Given the description of an element on the screen output the (x, y) to click on. 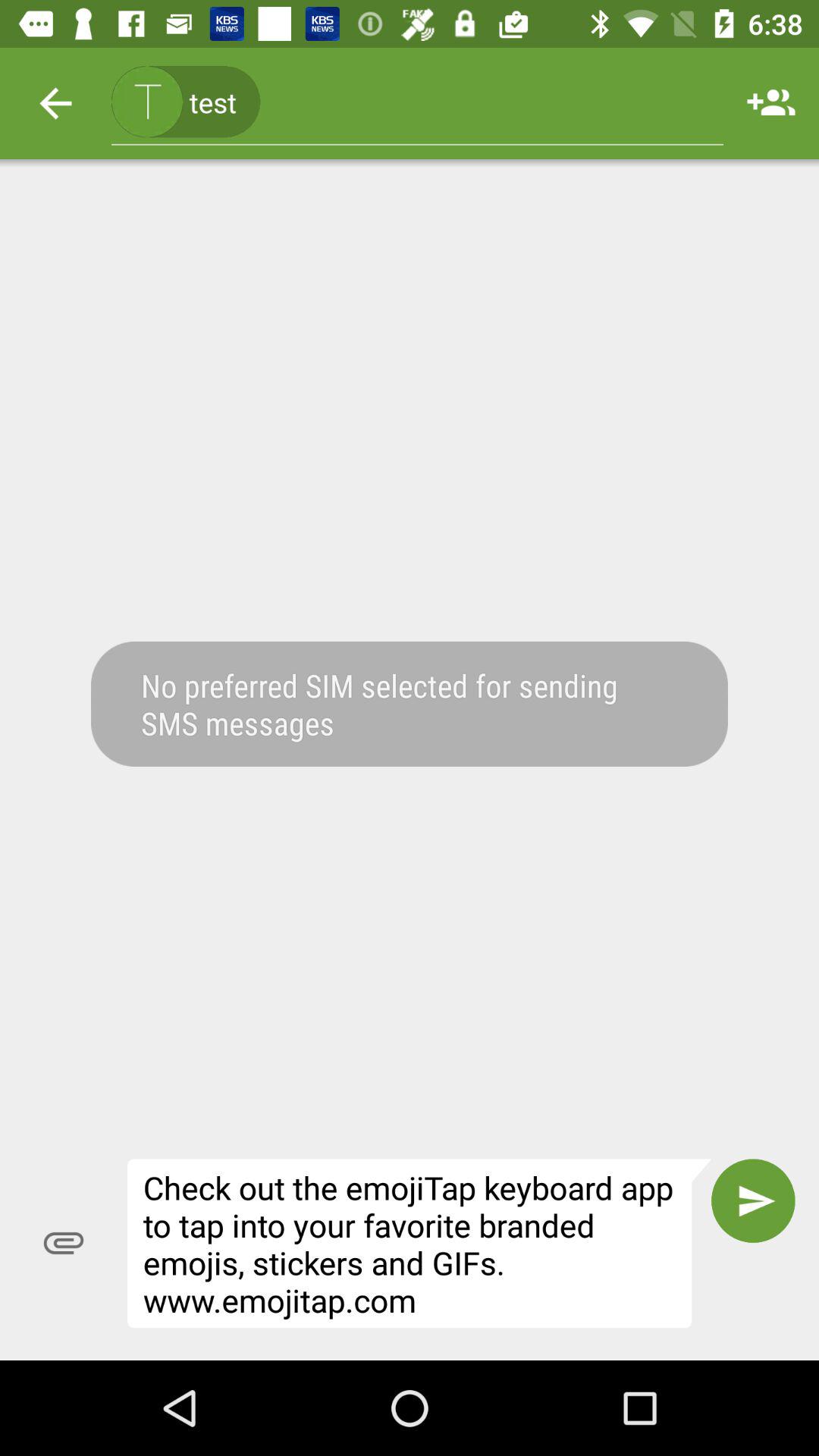
click (415) 123-4567,  icon (417, 103)
